Given the description of an element on the screen output the (x, y) to click on. 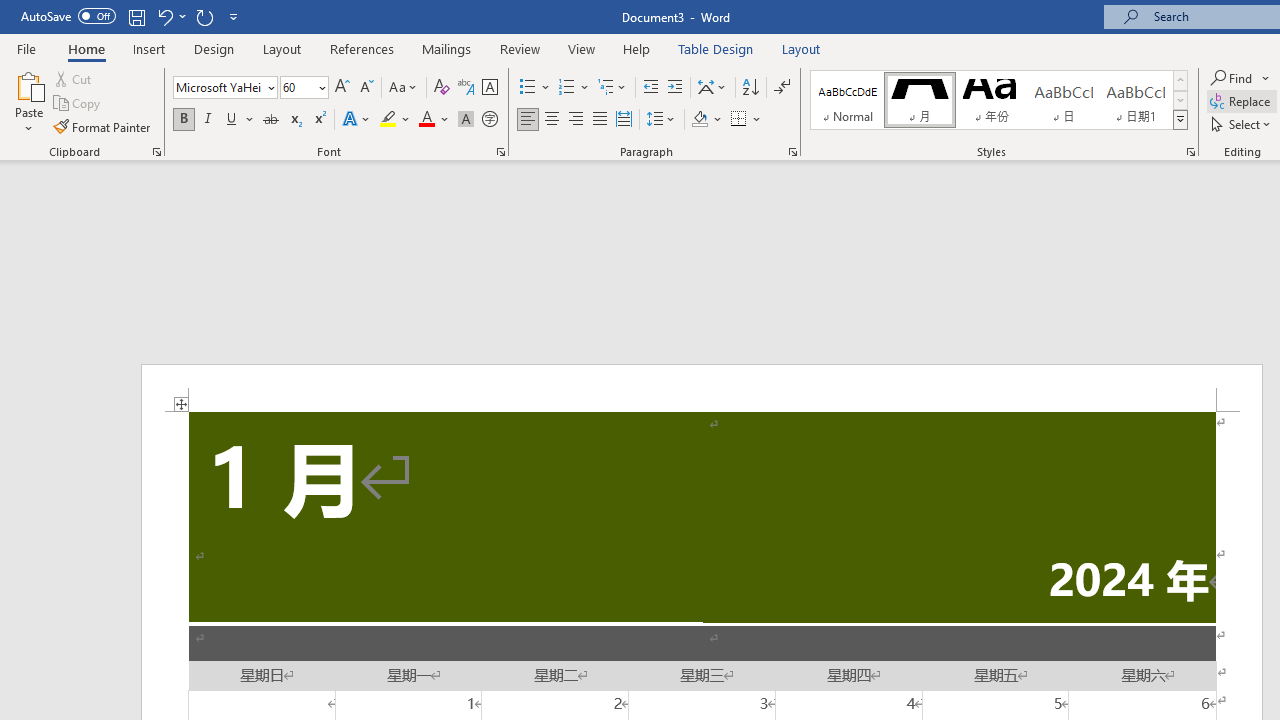
Shrink Font (365, 87)
Select (1242, 124)
Justify (599, 119)
More Options (1266, 78)
Open (320, 87)
Quick Access Toolbar (131, 16)
Distributed (623, 119)
Save (136, 15)
Underline (232, 119)
Asian Layout (712, 87)
Font Size (297, 87)
Increase Indent (675, 87)
Repeat Doc Close (204, 15)
System (10, 11)
Text Highlight Color (395, 119)
